Given the description of an element on the screen output the (x, y) to click on. 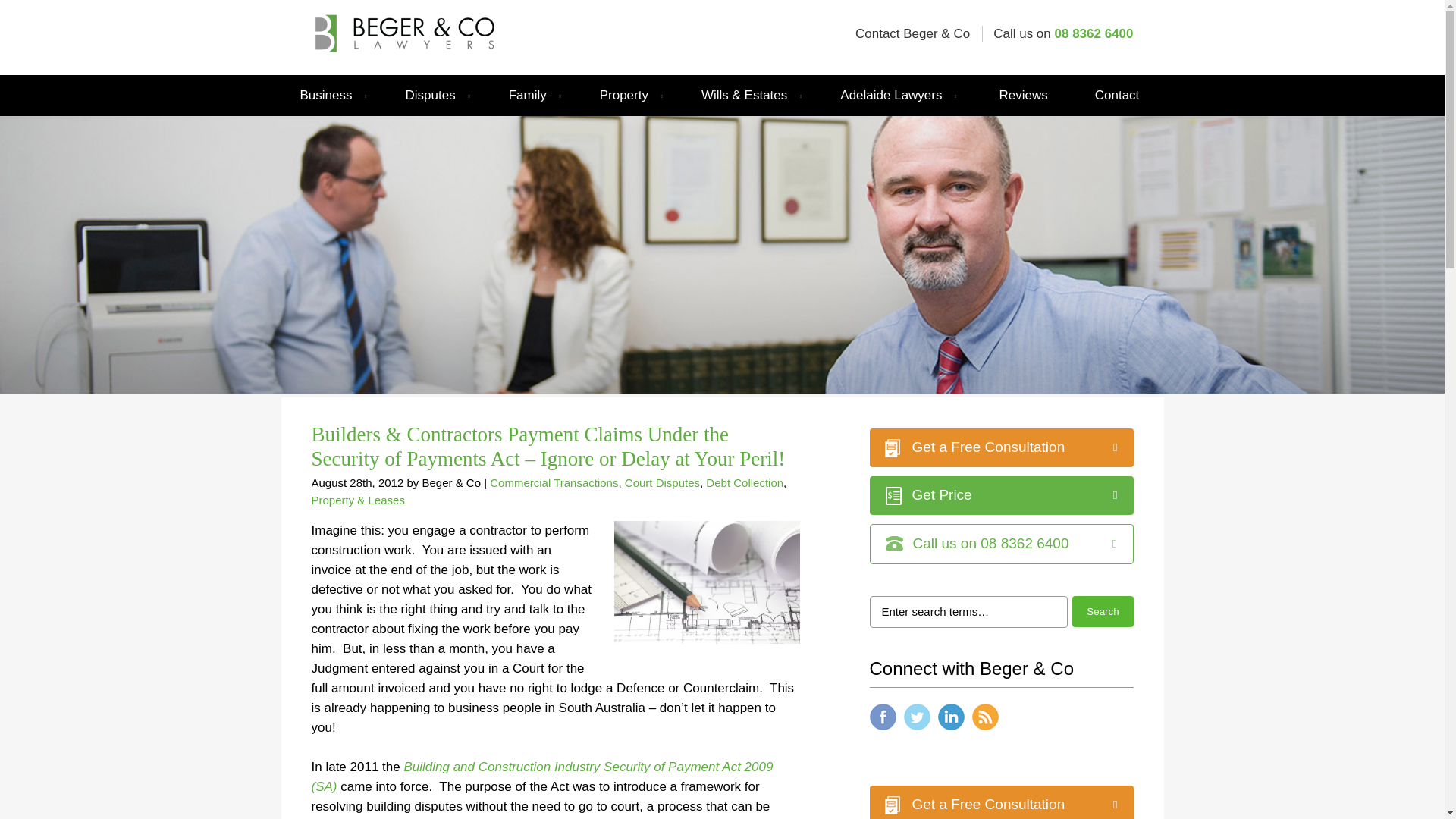
Business (332, 95)
Property (630, 95)
Disputes (436, 95)
08 8362 6400 (1093, 33)
Adelaide Lawyers and Conveyancers (402, 23)
Family (535, 95)
